Given the description of an element on the screen output the (x, y) to click on. 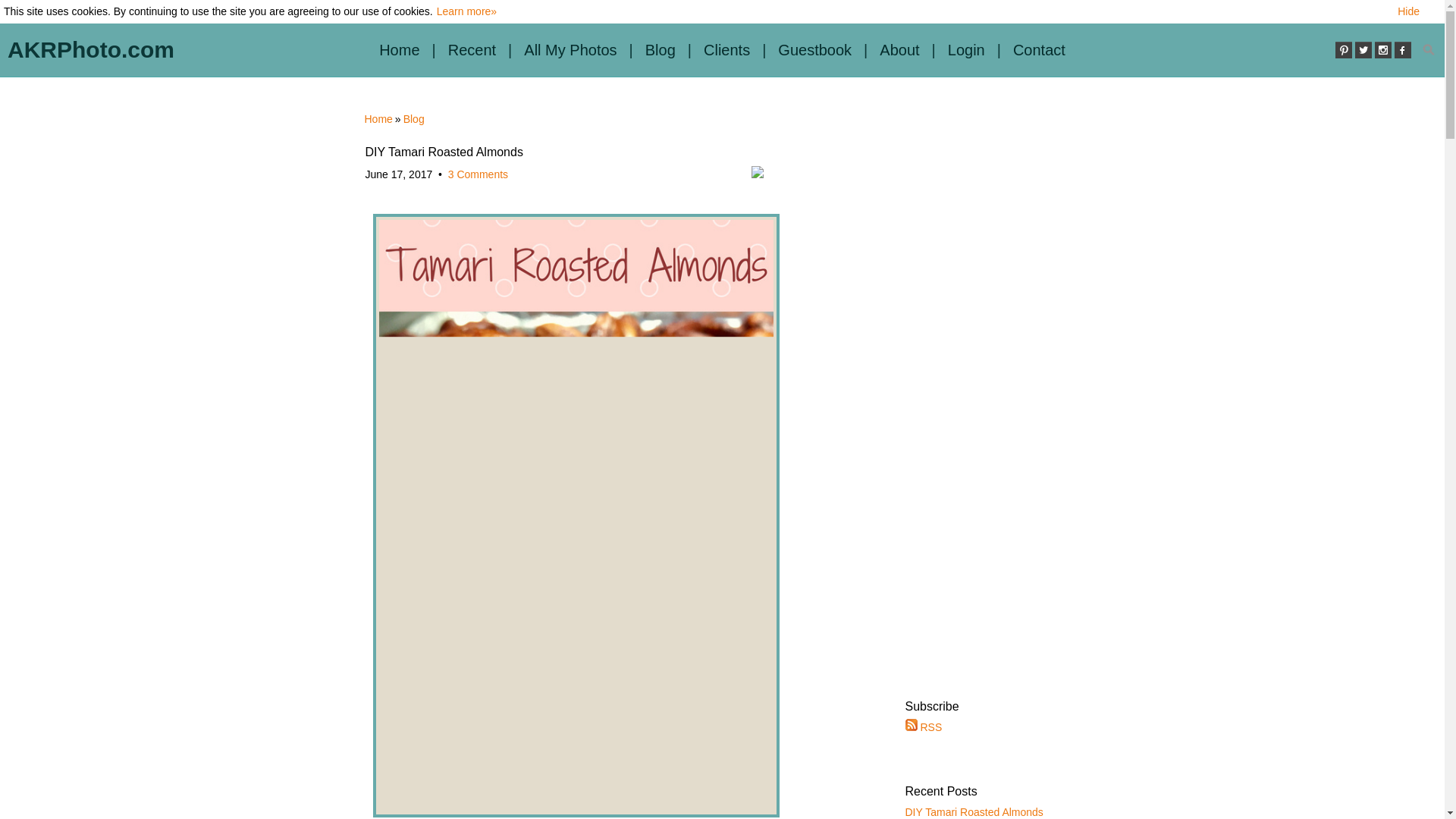
All My Photos (570, 49)
Blog (414, 119)
Contact (1039, 49)
AKRPhoto.com (91, 49)
About (899, 49)
Blog (660, 49)
Recent (472, 49)
3 Comments (478, 174)
Guestbook (814, 49)
Clients (726, 49)
